Given the description of an element on the screen output the (x, y) to click on. 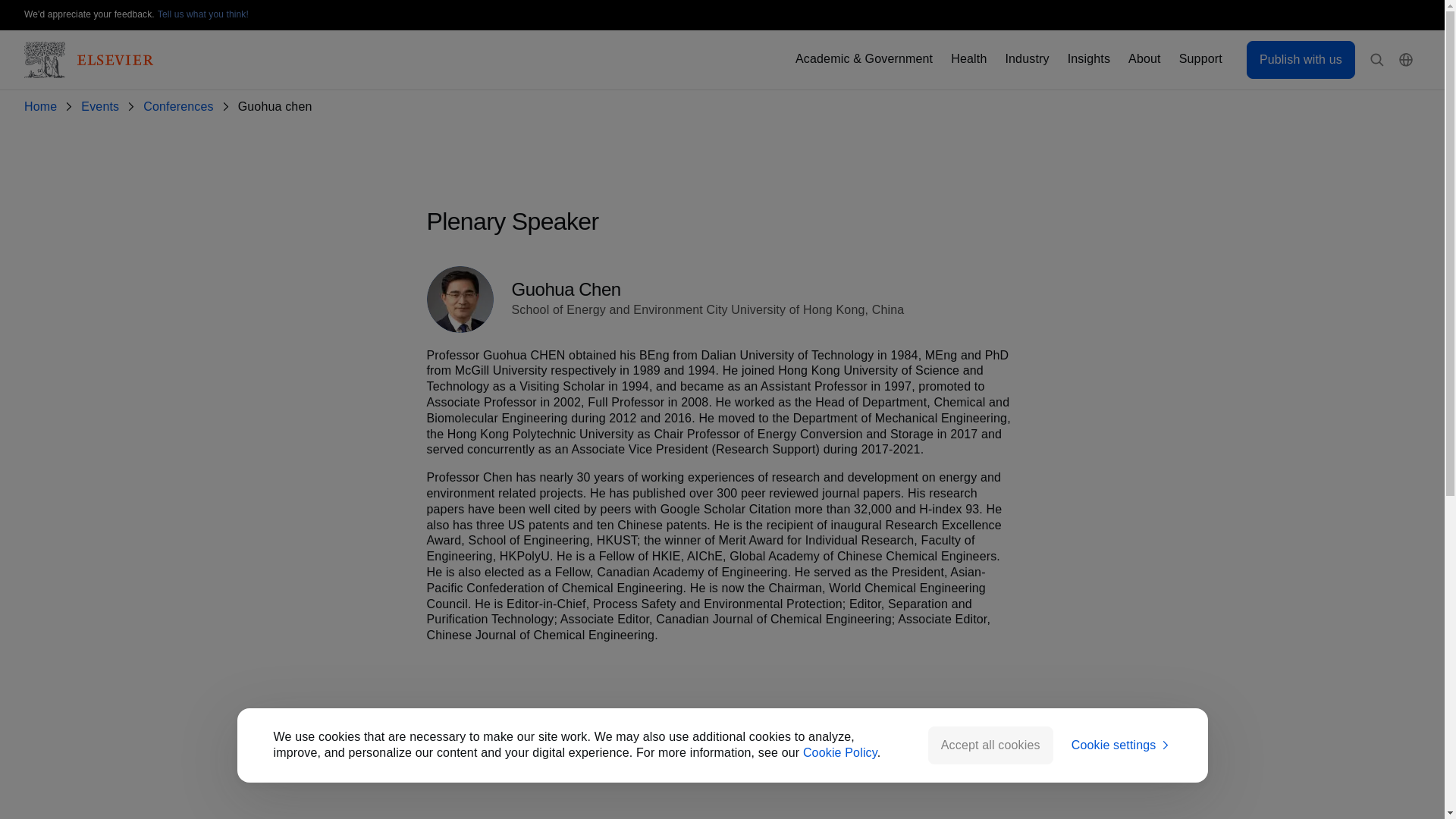
Conferences (180, 107)
Cookie settings (1121, 745)
Location Selector (1406, 59)
Industry (1026, 59)
Accept all cookies (990, 745)
Insights (1088, 59)
Publish with us (1300, 59)
Support (1201, 59)
Cookie Policy (840, 752)
Open Search (1376, 59)
Events (103, 107)
About (1144, 59)
Home (43, 107)
Health (968, 59)
